Given the description of an element on the screen output the (x, y) to click on. 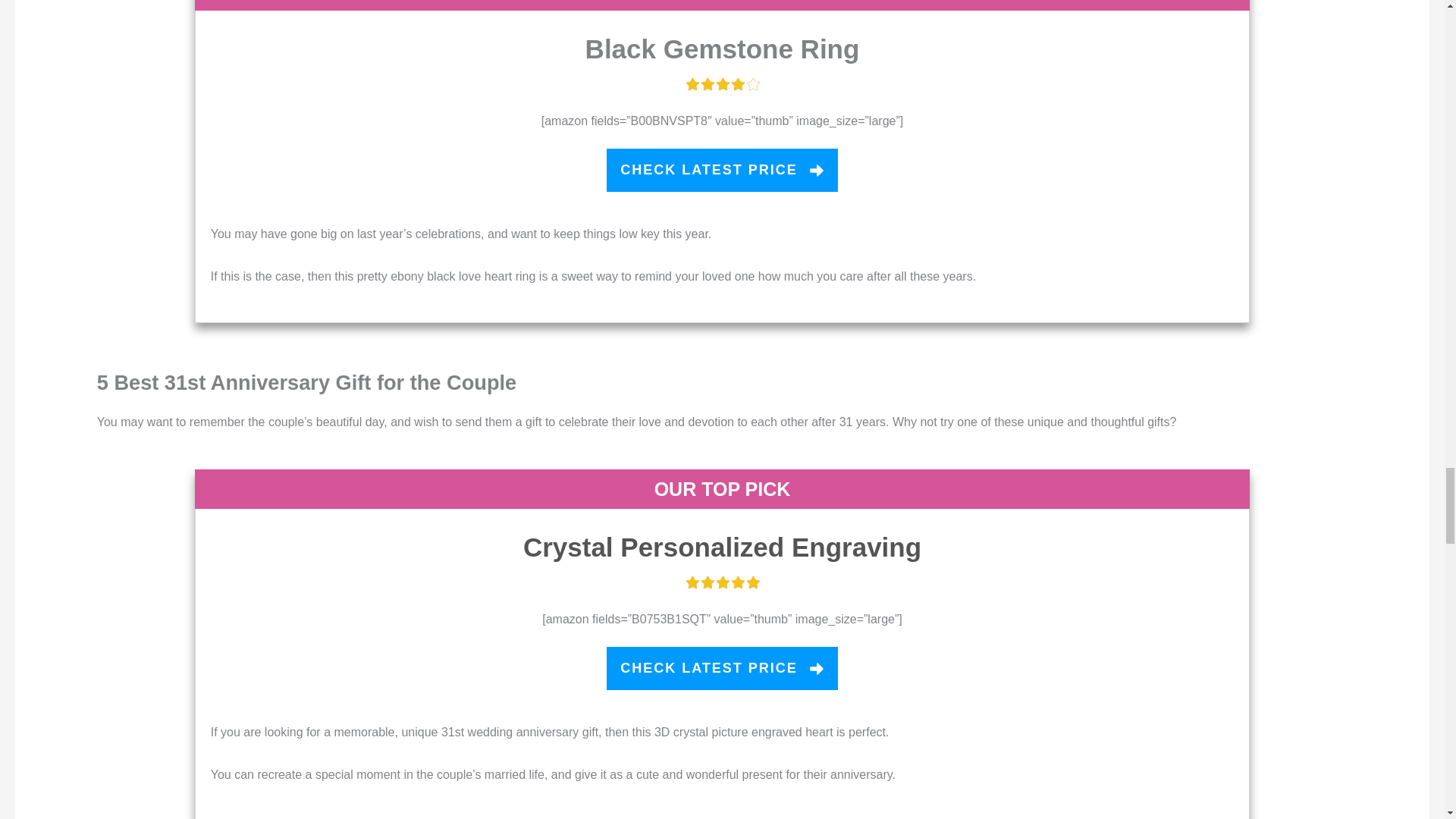
CHECK LATEST PRICE (722, 170)
Black Gemstone Ring (722, 48)
Crystal Personalized Engraving (721, 546)
CHECK LATEST PRICE (722, 669)
